Given the description of an element on the screen output the (x, y) to click on. 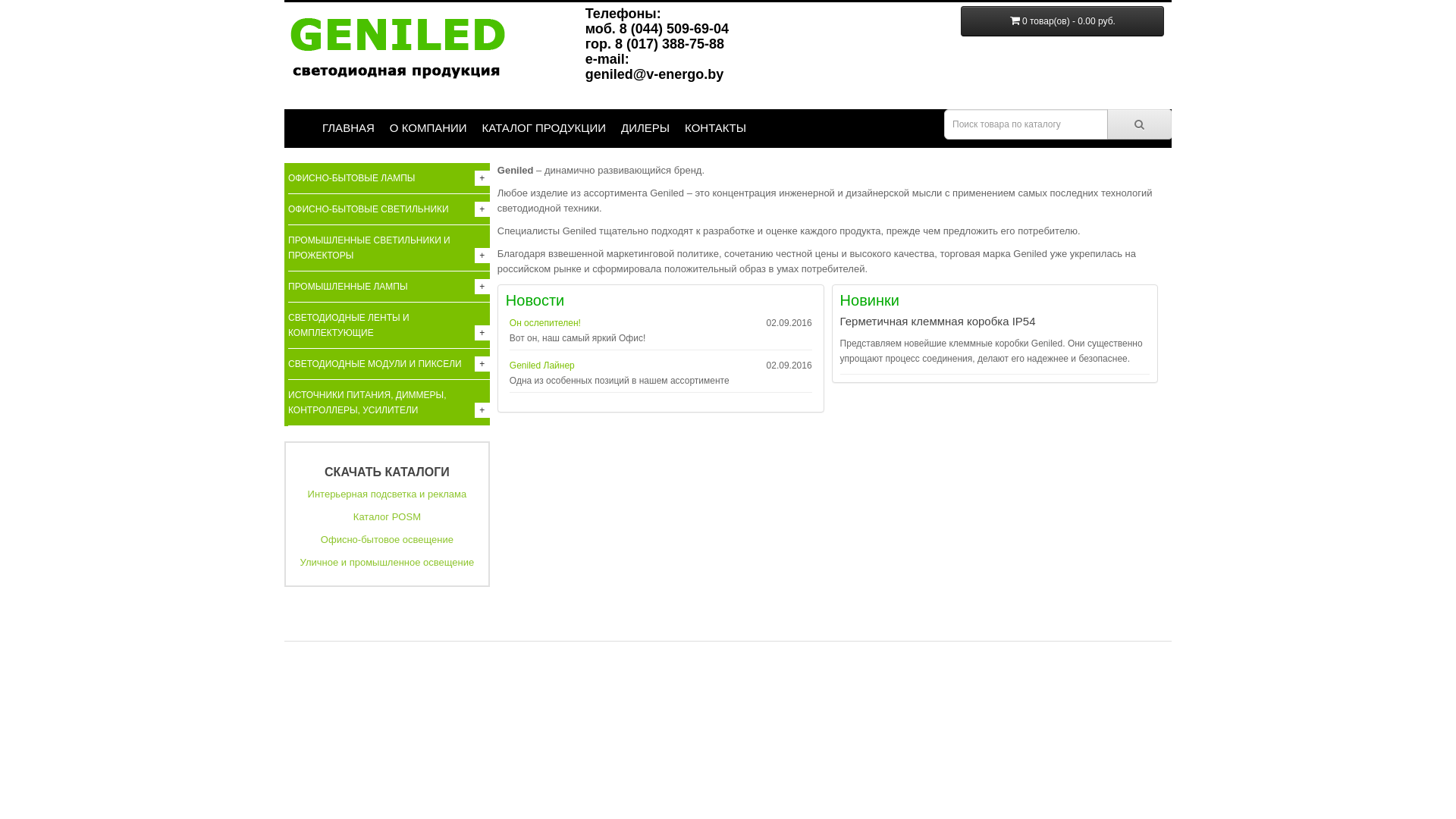
+ Element type: text (481, 286)
+ Element type: text (481, 409)
+ Element type: text (481, 177)
+ Element type: text (481, 255)
+ Element type: text (481, 363)
+ Element type: text (481, 208)
+ Element type: text (481, 332)
Geniled.by Element type: hover (401, 53)
